Given the description of an element on the screen output the (x, y) to click on. 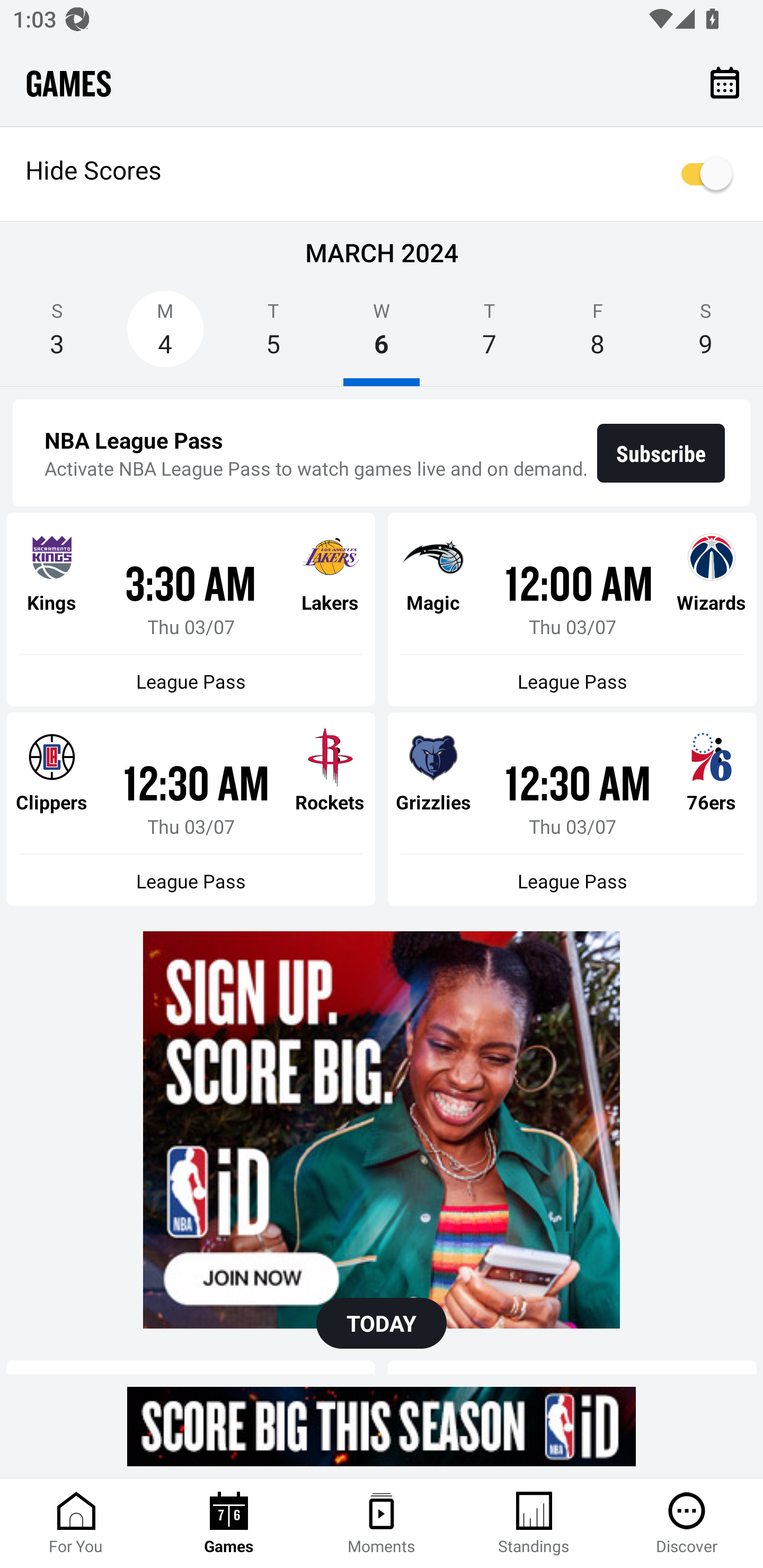
Calendar (724, 81)
Hide Scores (381, 174)
S 3 (57, 334)
M 4 (165, 334)
T 5 (273, 334)
W 6 (381, 334)
T 7 (489, 334)
F 8 (597, 334)
S 9 (705, 334)
Subscribe (660, 452)
TODAY (381, 1323)
For You (76, 1523)
Moments (381, 1523)
Standings (533, 1523)
Discover (686, 1523)
